Given the description of an element on the screen output the (x, y) to click on. 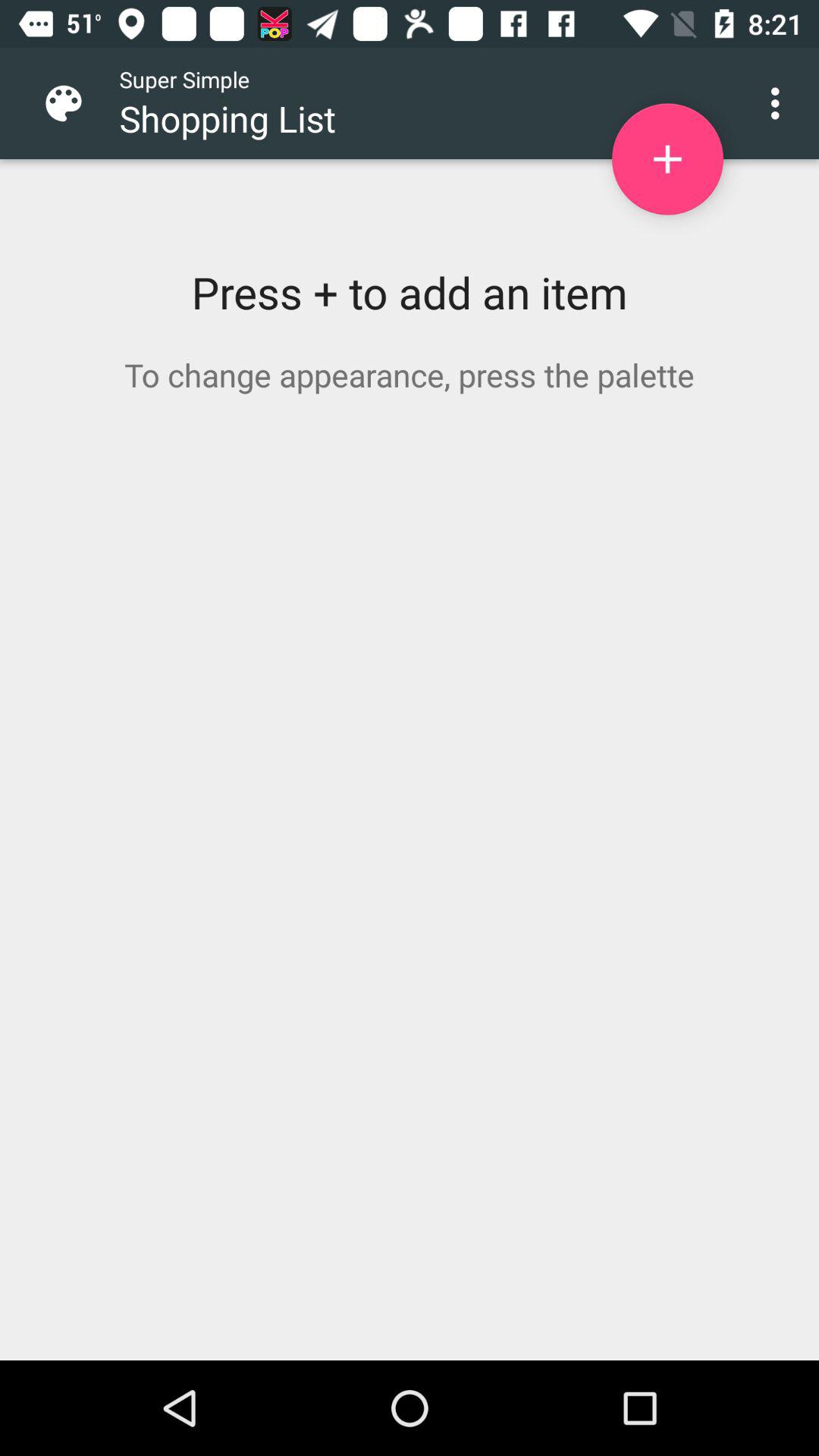
tap the item next to super simple item (75, 103)
